Given the description of an element on the screen output the (x, y) to click on. 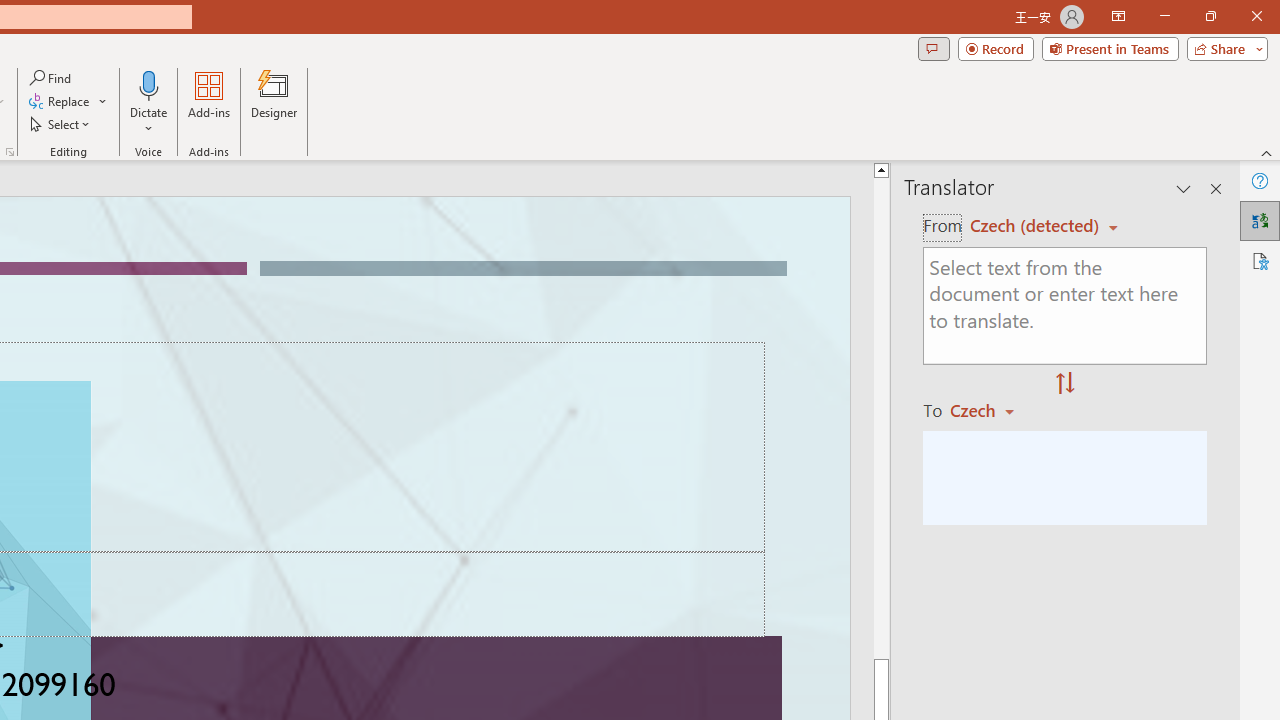
Czech (991, 409)
Czech (detected) (1037, 225)
